Given the description of an element on the screen output the (x, y) to click on. 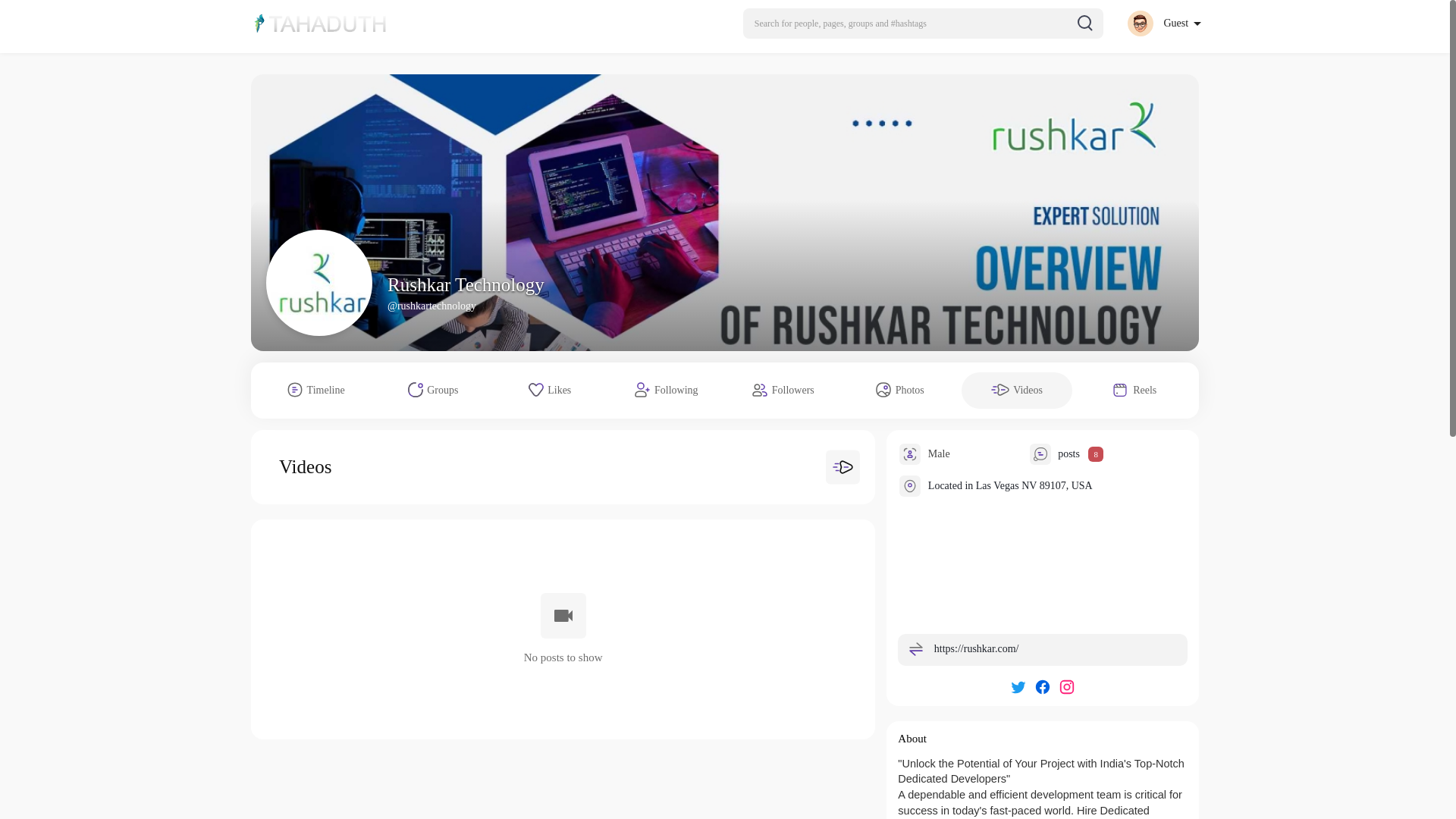
Guest (1163, 23)
Rushkar Technology (465, 284)
Videos (1015, 390)
Following (666, 390)
Photos (899, 390)
Groups (432, 390)
Reels (1133, 390)
Followers (783, 390)
Timeline (315, 390)
Likes (550, 390)
